Given the description of an element on the screen output the (x, y) to click on. 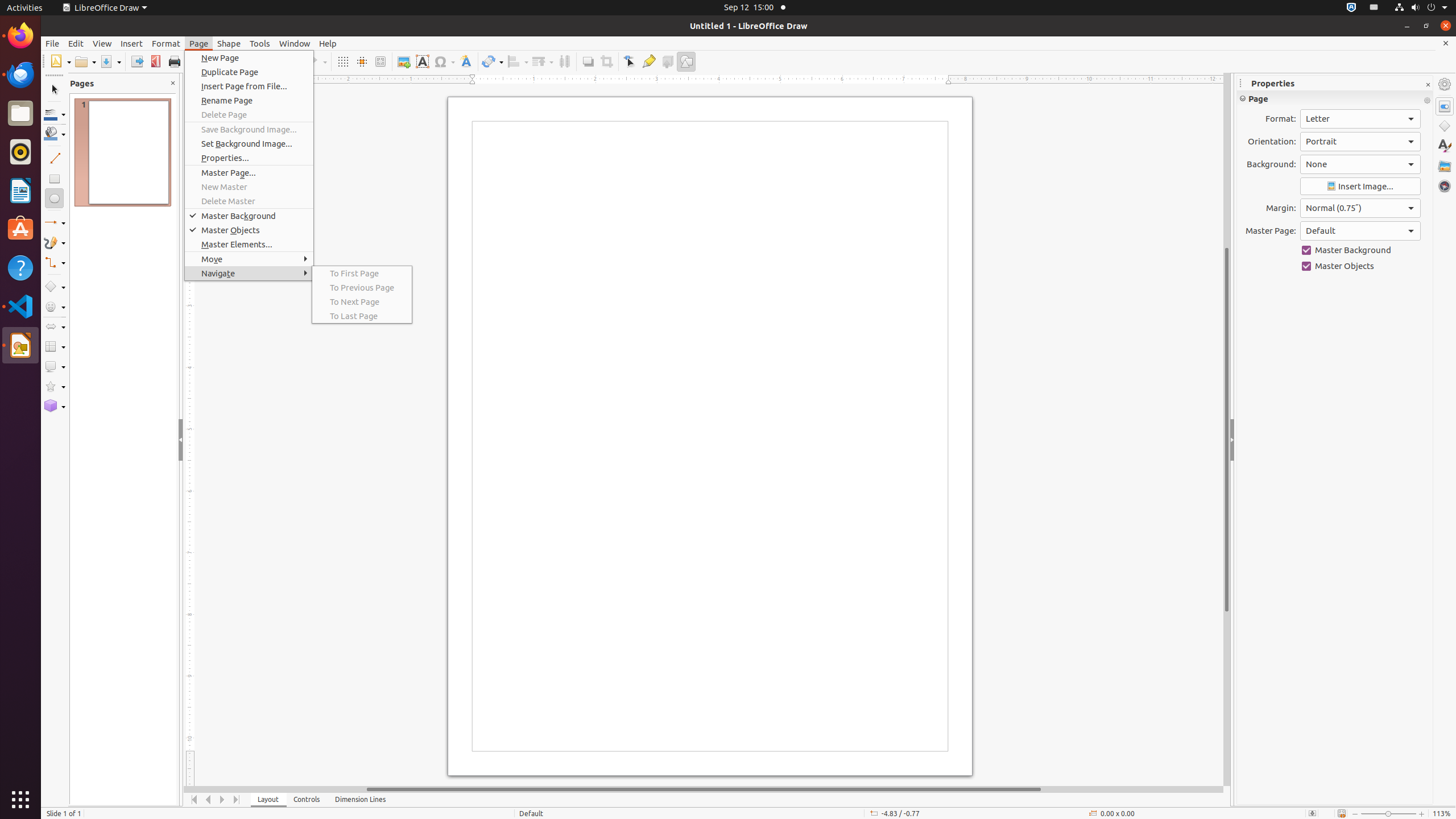
New Master Element type: menu-item (248, 186)
LibreOffice Draw Element type: menu (103, 7)
:1.72/StatusNotifierItem Element type: menu (1350, 7)
Orientation: Element type: combo-box (1360, 141)
Export Element type: push-button (136, 61)
